Given the description of an element on the screen output the (x, y) to click on. 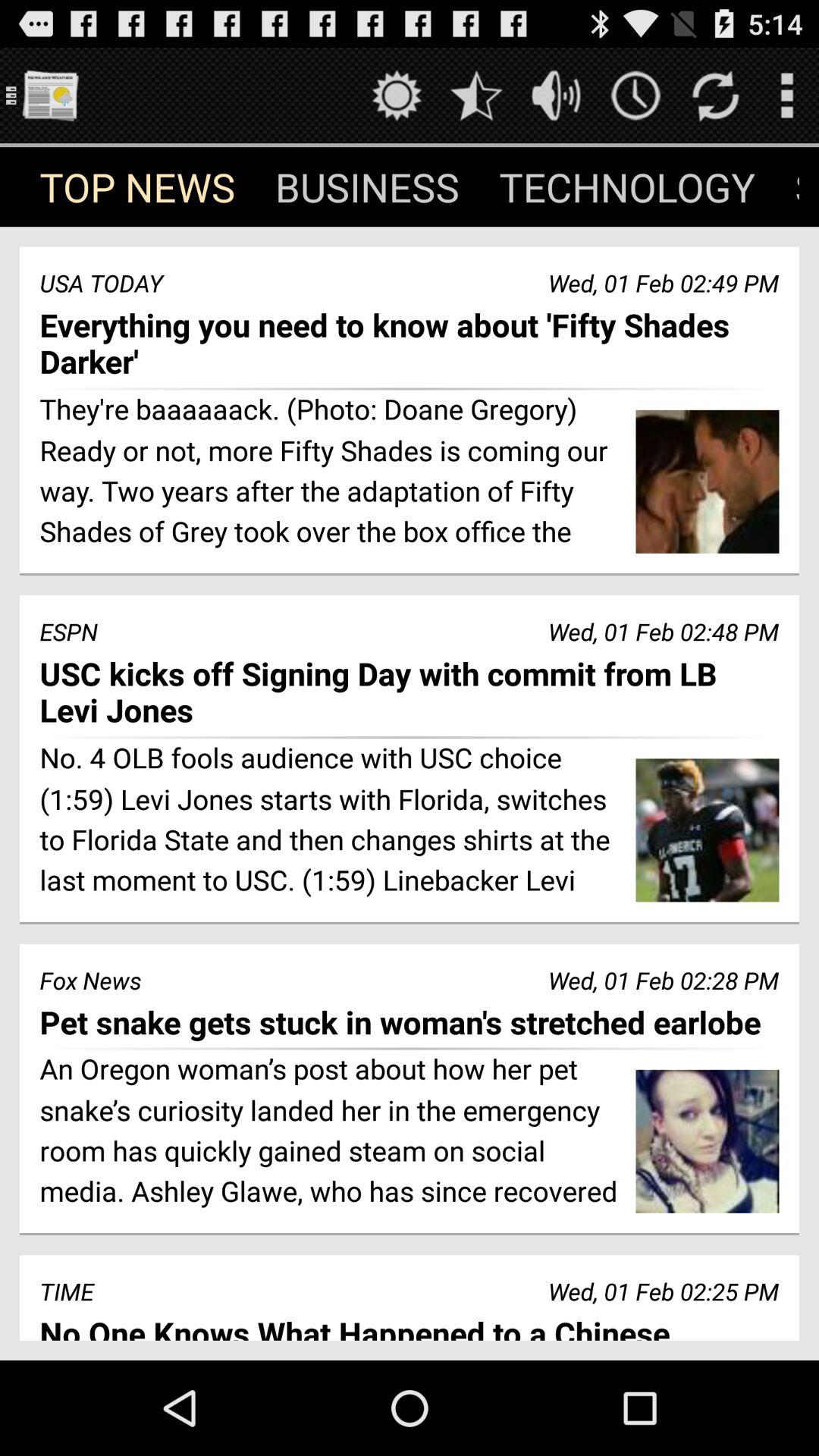
go to home page (49, 95)
